Given the description of an element on the screen output the (x, y) to click on. 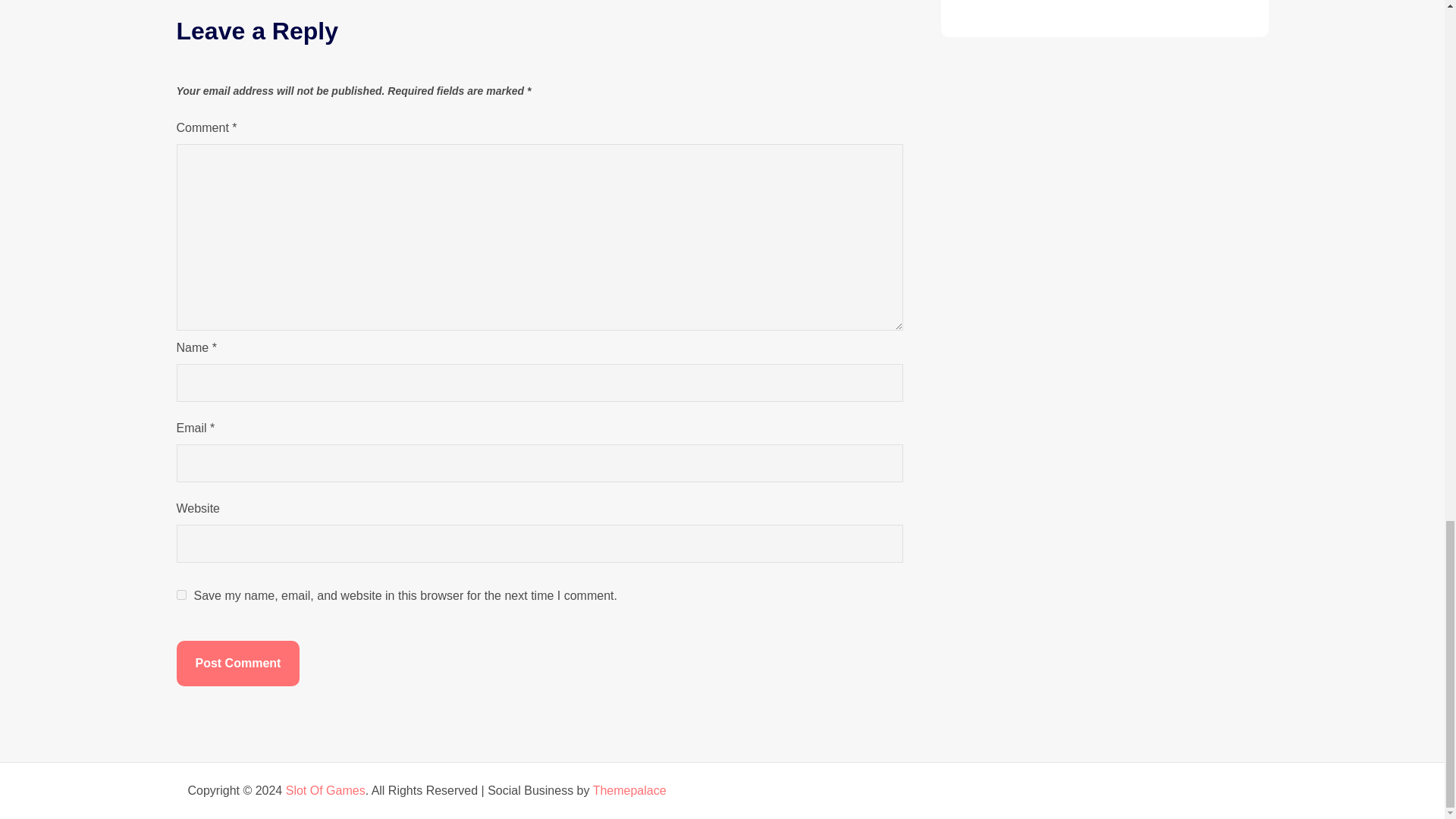
Post Comment (237, 663)
yes (181, 594)
Post Comment (237, 663)
